Given the description of an element on the screen output the (x, y) to click on. 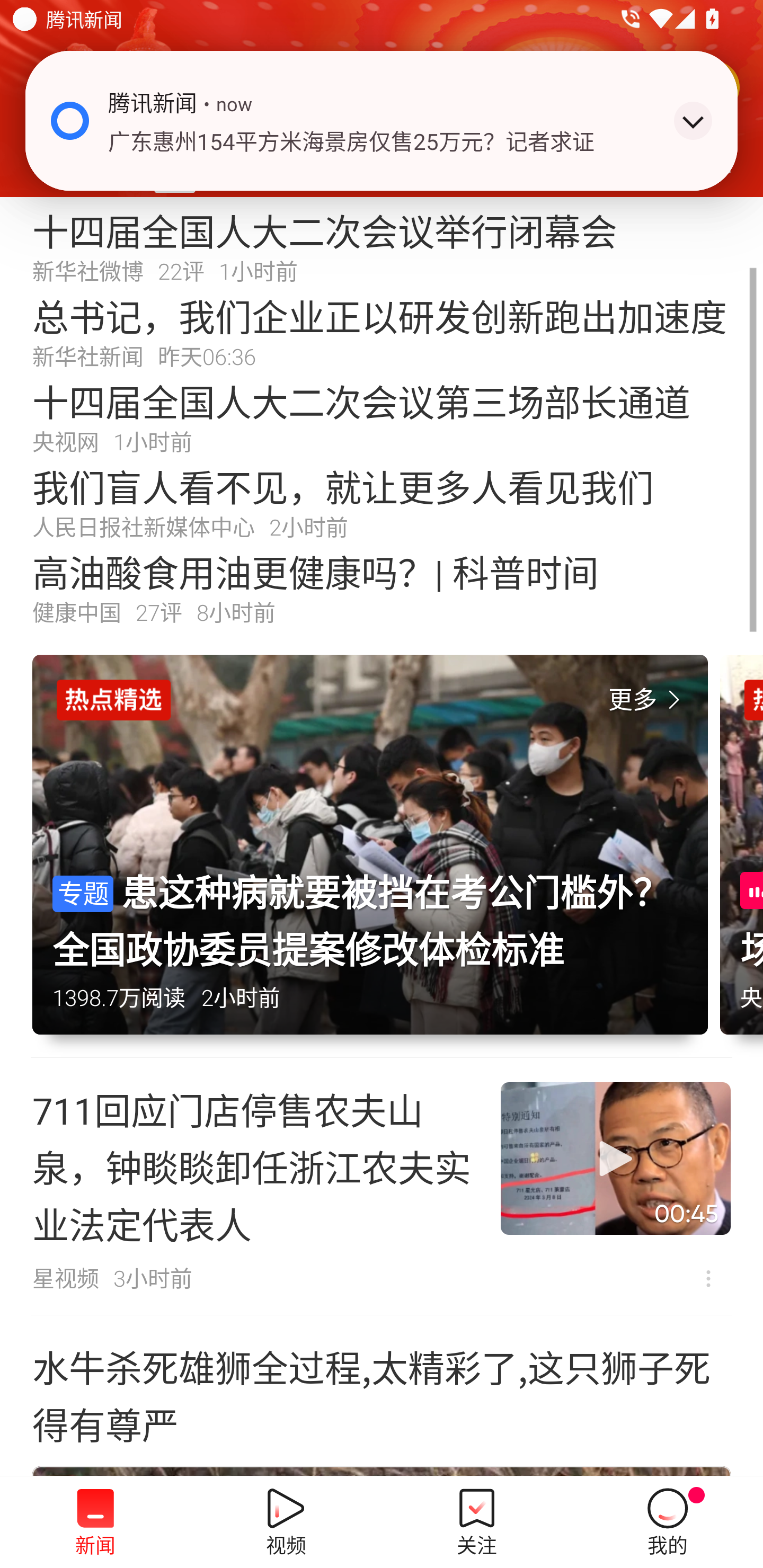
十四届全国人大二次会议举行闭幕会 新华社微博 22评 1小时前 (381, 245)
总书记，我们企业正以研发创新跑出加速度 新华社新闻 昨天06:36 (381, 331)
十四届全国人大二次会议第三场部长通道 央视网 1小时前 (381, 416)
我们盲人看不见，就让更多人看见我们 人民日报社新媒体中心 2小时前 (381, 502)
高油酸食用油更健康吗？| 科普时间 健康中国 27评 8小时前 (381, 587)
更多  (648, 699)
 不感兴趣 (707, 1278)
水牛杀死雄狮全过程,太精彩了,这只狮子死得有尊严 (381, 1394)
